Given the description of an element on the screen output the (x, y) to click on. 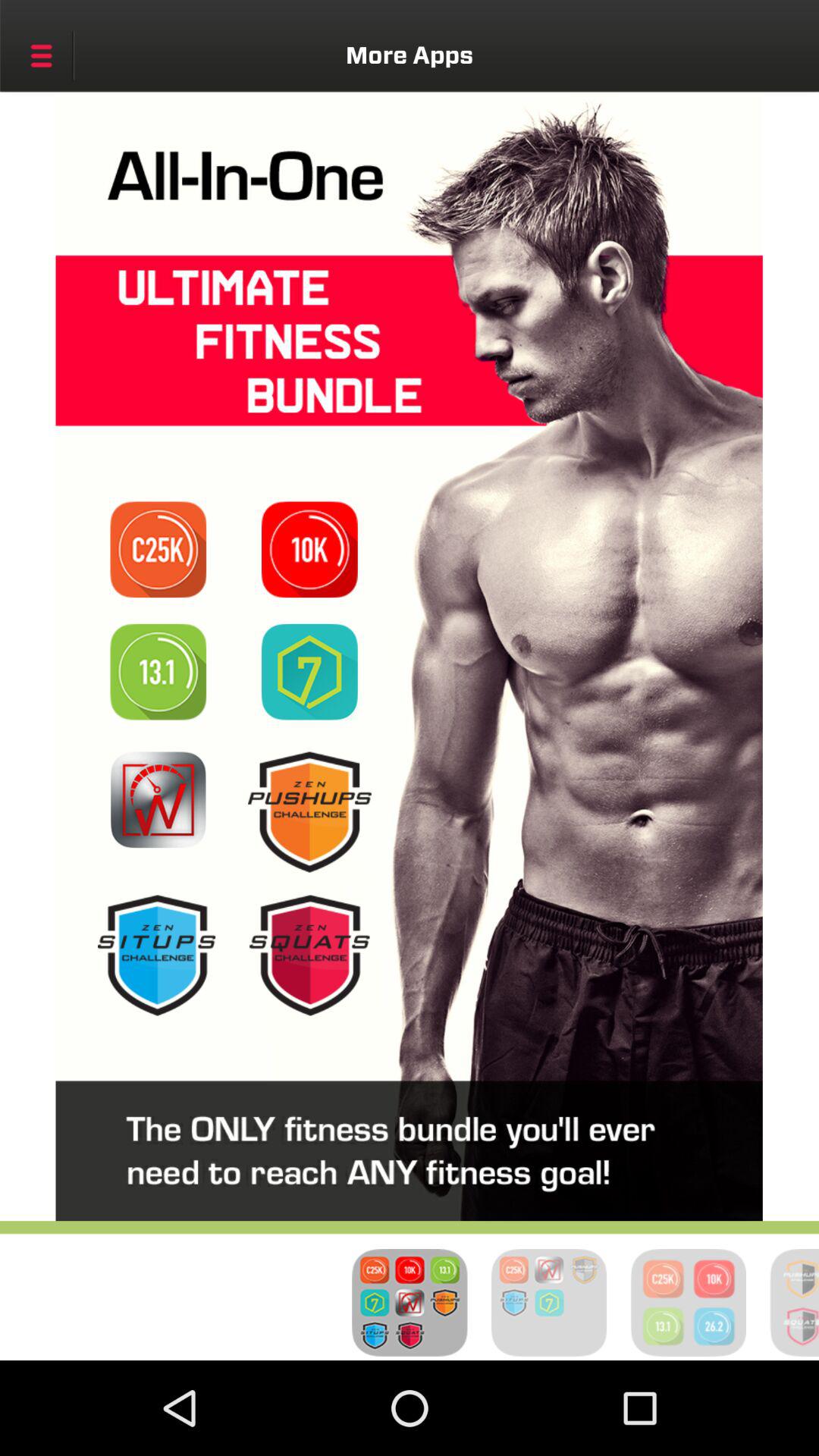
tap item to the left of the more apps item (40, 55)
